Given the description of an element on the screen output the (x, y) to click on. 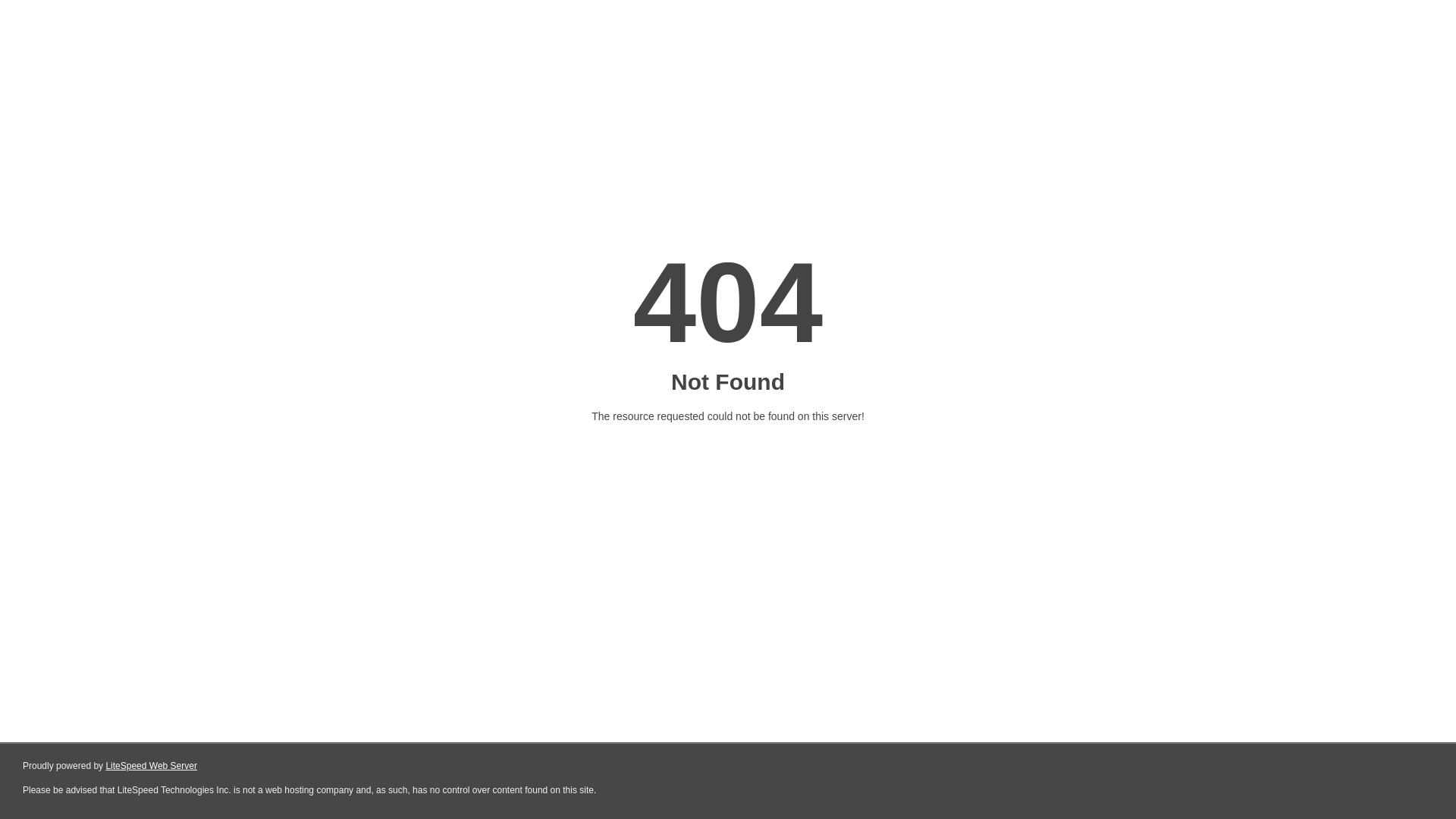
LiteSpeed Web Server Element type: text (151, 765)
